Given the description of an element on the screen output the (x, y) to click on. 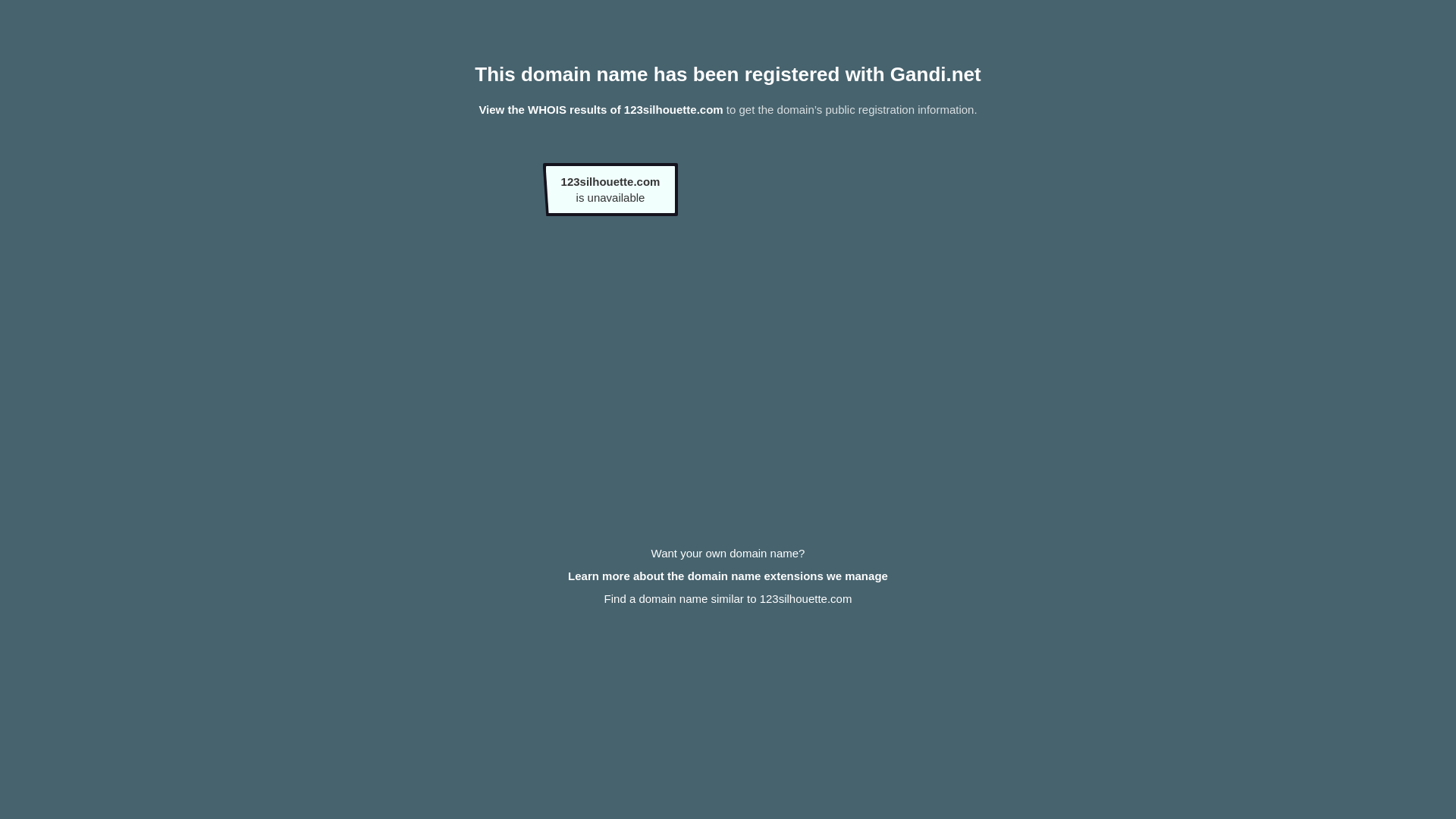
Learn more about the domain name extensions we manage Element type: text (727, 575)
Find a domain name similar to 123silhouette.com Element type: text (728, 598)
View the WHOIS results of 123silhouette.com Element type: text (600, 109)
